Given the description of an element on the screen output the (x, y) to click on. 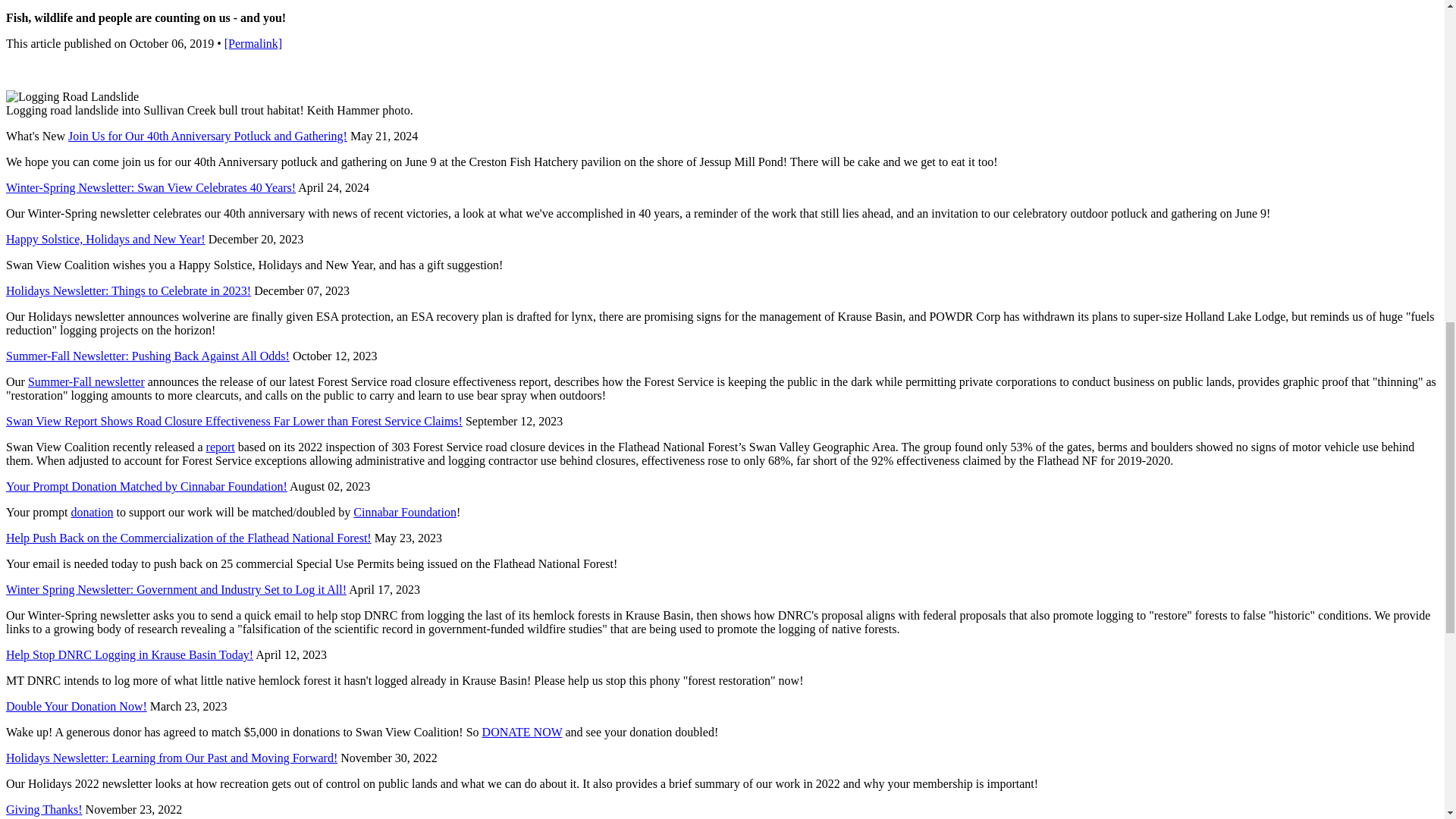
Holidays Newsletter: Things to Celebrate in 2023! (127, 290)
Cinnabar Foundation (405, 512)
Join Us for Our 40th Anniversary Potluck and Gathering! (207, 135)
Winter-Spring Newsletter: Swan View Celebrates 40 Years! (150, 187)
Happy Solstice, Holidays and New Year! (105, 238)
Summer-Fall Newsletter: Pushing Back Against All Odds! (147, 355)
report (220, 446)
donation (92, 512)
Summer-Fall newsletter (85, 381)
Your Prompt Donation Matched by Cinnabar Foundation! (145, 486)
